Given the description of an element on the screen output the (x, y) to click on. 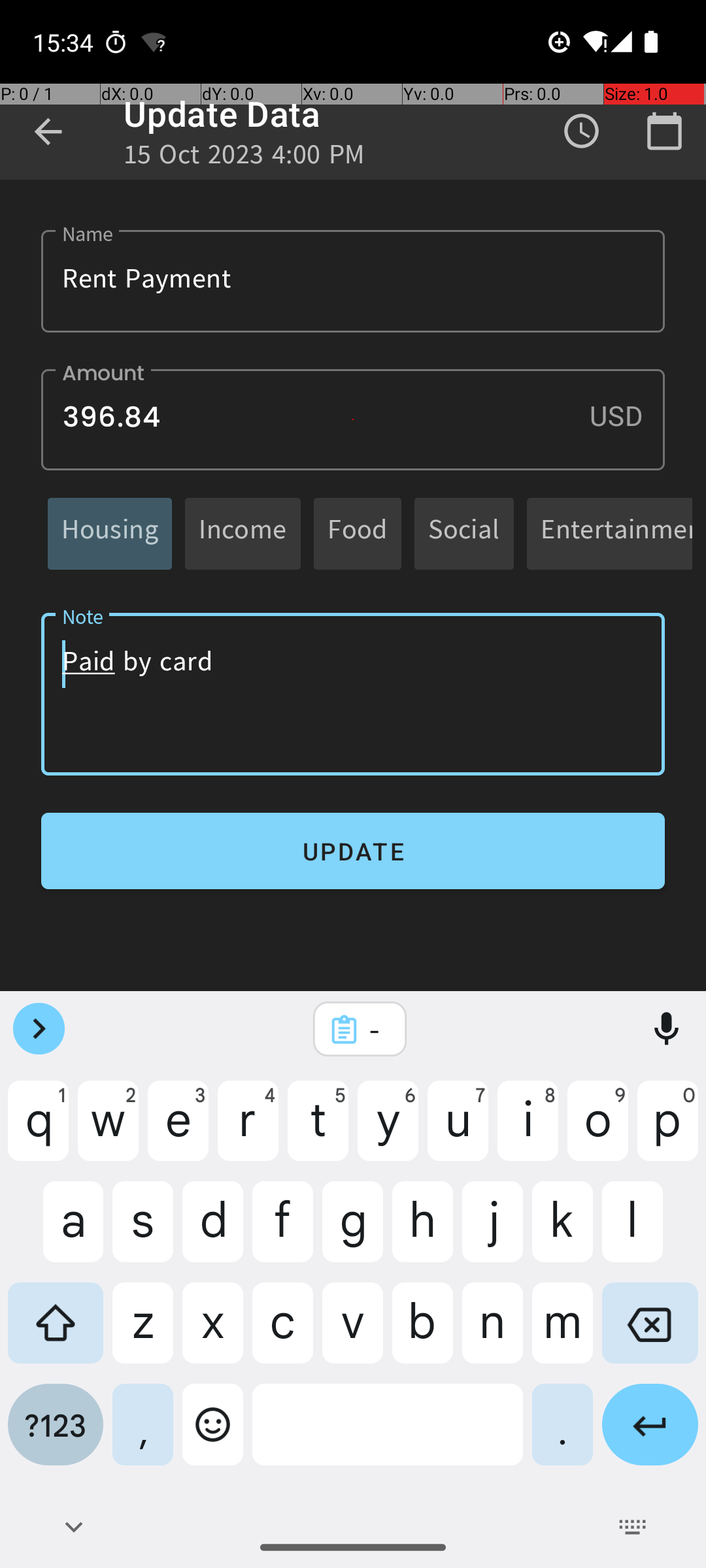
15 Oct 2023 4:00 PM Element type: android.widget.TextView (244, 157)
Rent Payment Element type: android.widget.EditText (352, 280)
396.84 Element type: android.widget.EditText (352, 419)
